Given the description of an element on the screen output the (x, y) to click on. 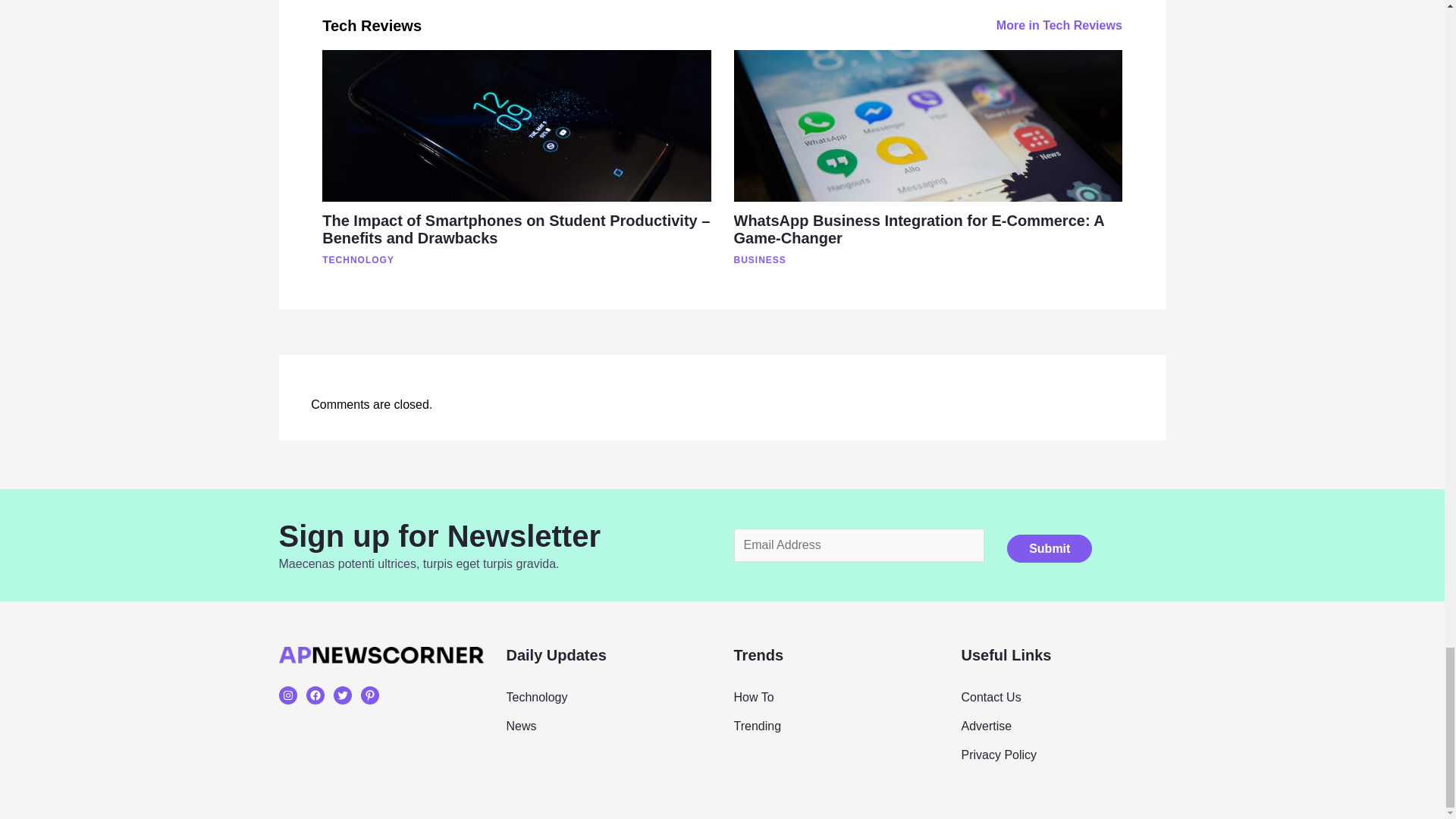
Submit (1049, 548)
More in Tech Reviews (1058, 25)
